Given the description of an element on the screen output the (x, y) to click on. 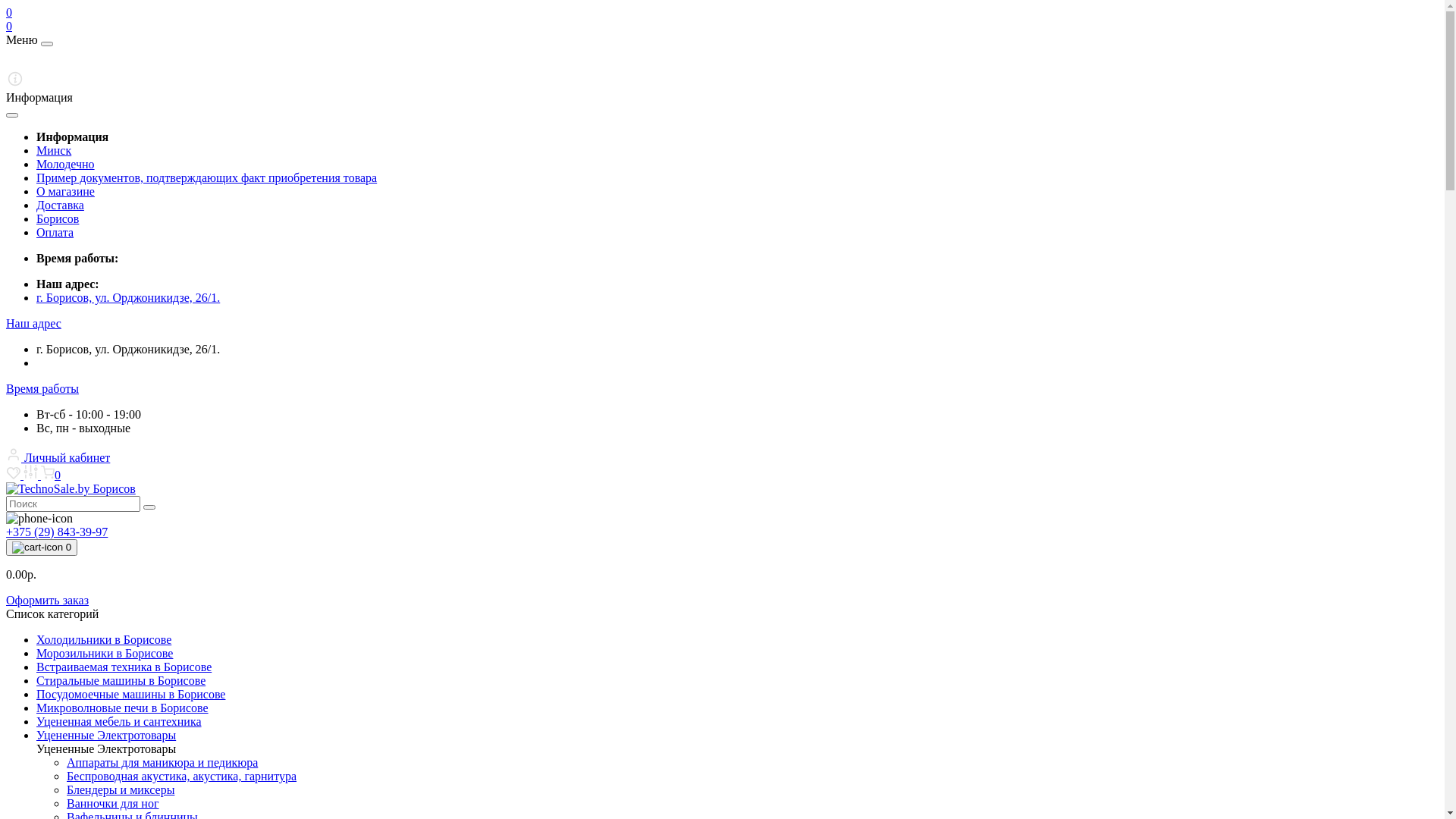
0 Element type: text (50, 474)
0 Element type: text (9, 12)
0 Element type: text (41, 547)
+375 (29) 843-39-97 Element type: text (56, 531)
0 Element type: text (9, 25)
